Given the description of an element on the screen output the (x, y) to click on. 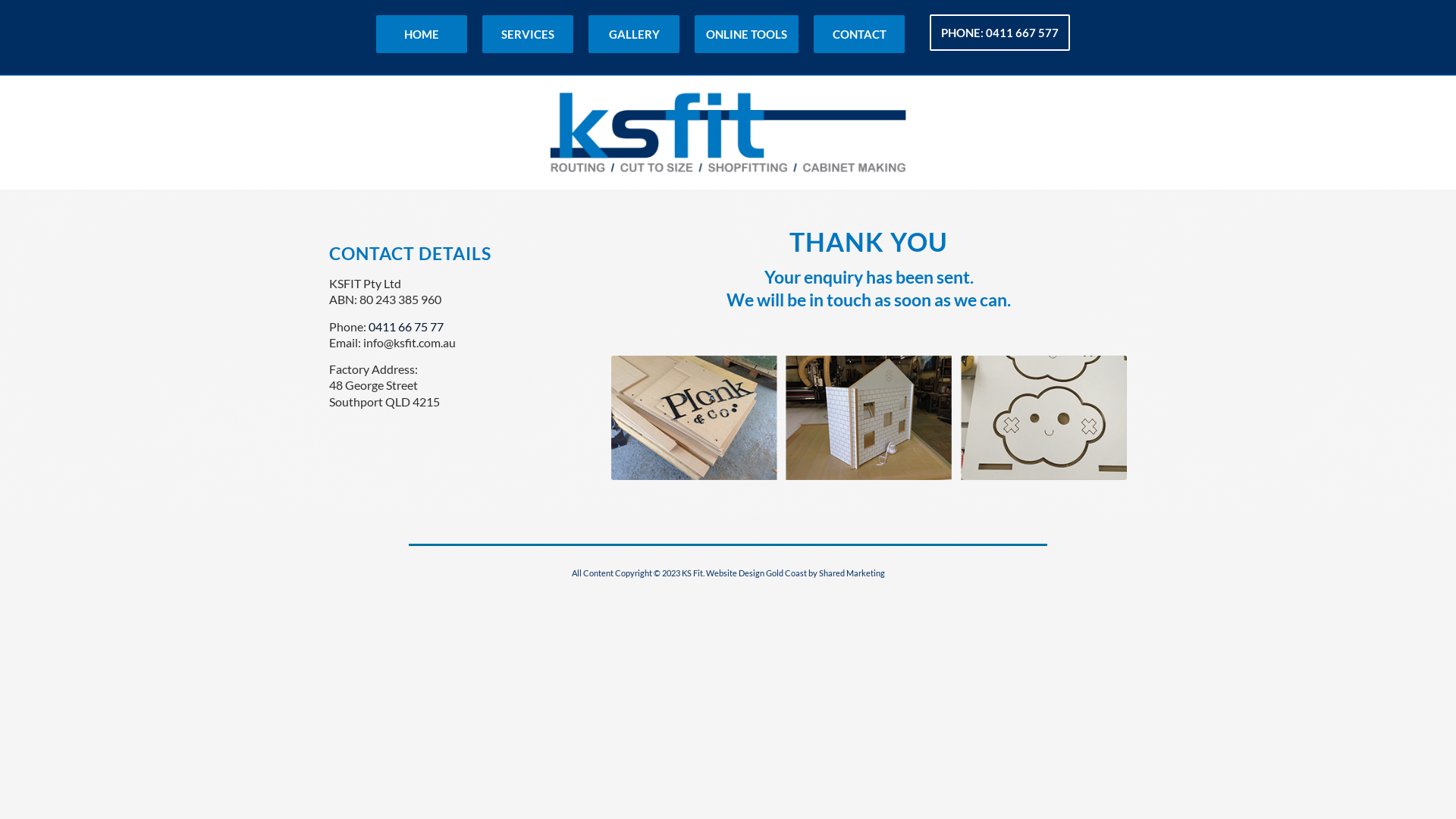
CONTACT Element type: text (858, 34)
0411 66 75 77 Element type: text (405, 325)
GALLERY Element type: text (633, 34)
ONLINE TOOLS Element type: text (746, 34)
Contact Element type: hover (868, 417)
Website Design Gold Coast Element type: text (755, 572)
SERVICES Element type: text (527, 34)
HOME Element type: text (421, 34)
PHONE: 0411 667 577 Element type: text (999, 34)
Shared Marketing Element type: text (851, 572)
